Given the description of an element on the screen output the (x, y) to click on. 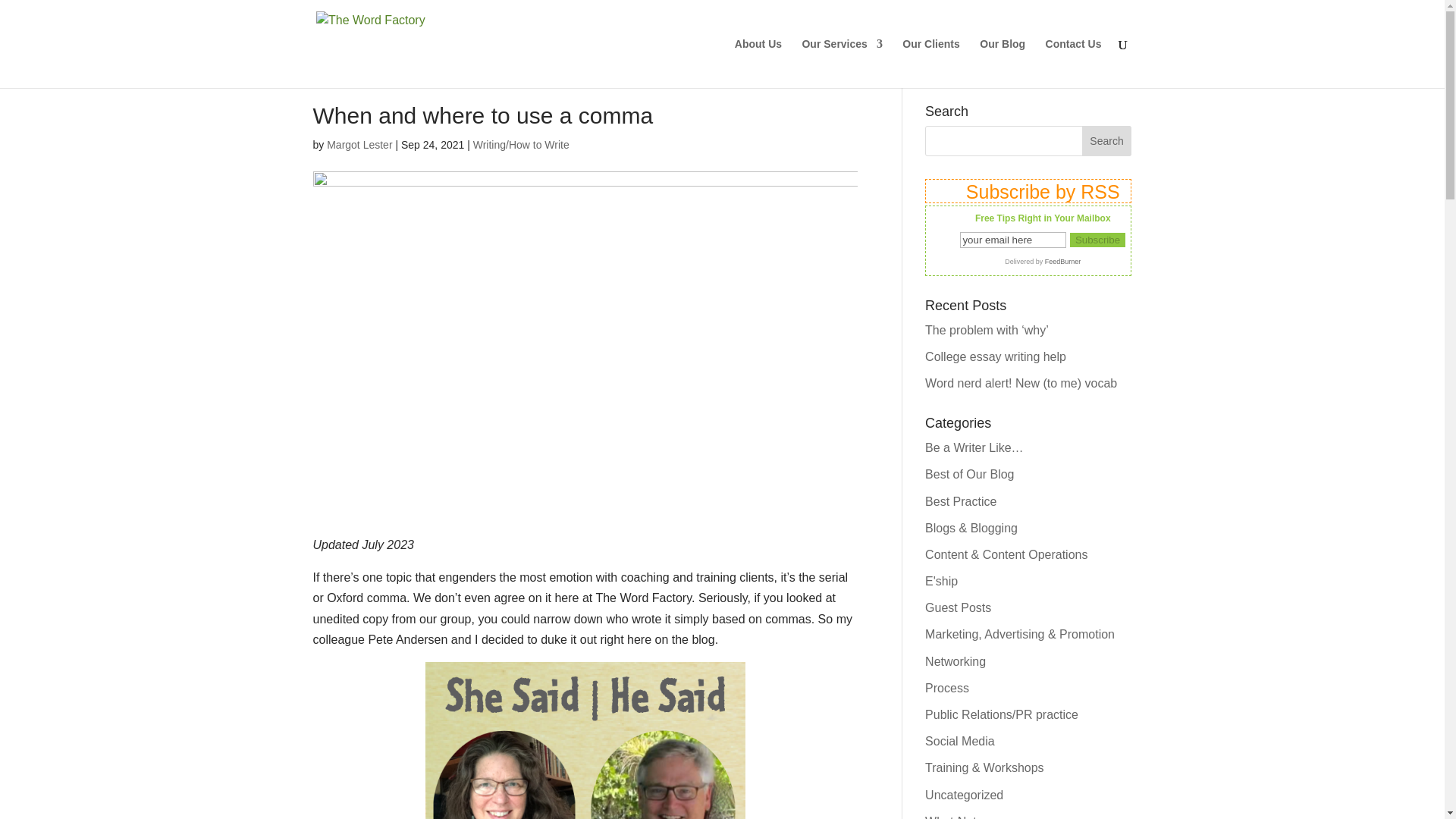
Subscribe (1097, 239)
Our Blog (1002, 62)
Search (1106, 141)
Subscribe (1097, 239)
FeedBurner (1063, 261)
Search (1106, 141)
Subscribe by RSS (1027, 191)
Contact Us (1073, 62)
your email here (1012, 239)
Posts by Margot Lester (358, 144)
